Given the description of an element on the screen output the (x, y) to click on. 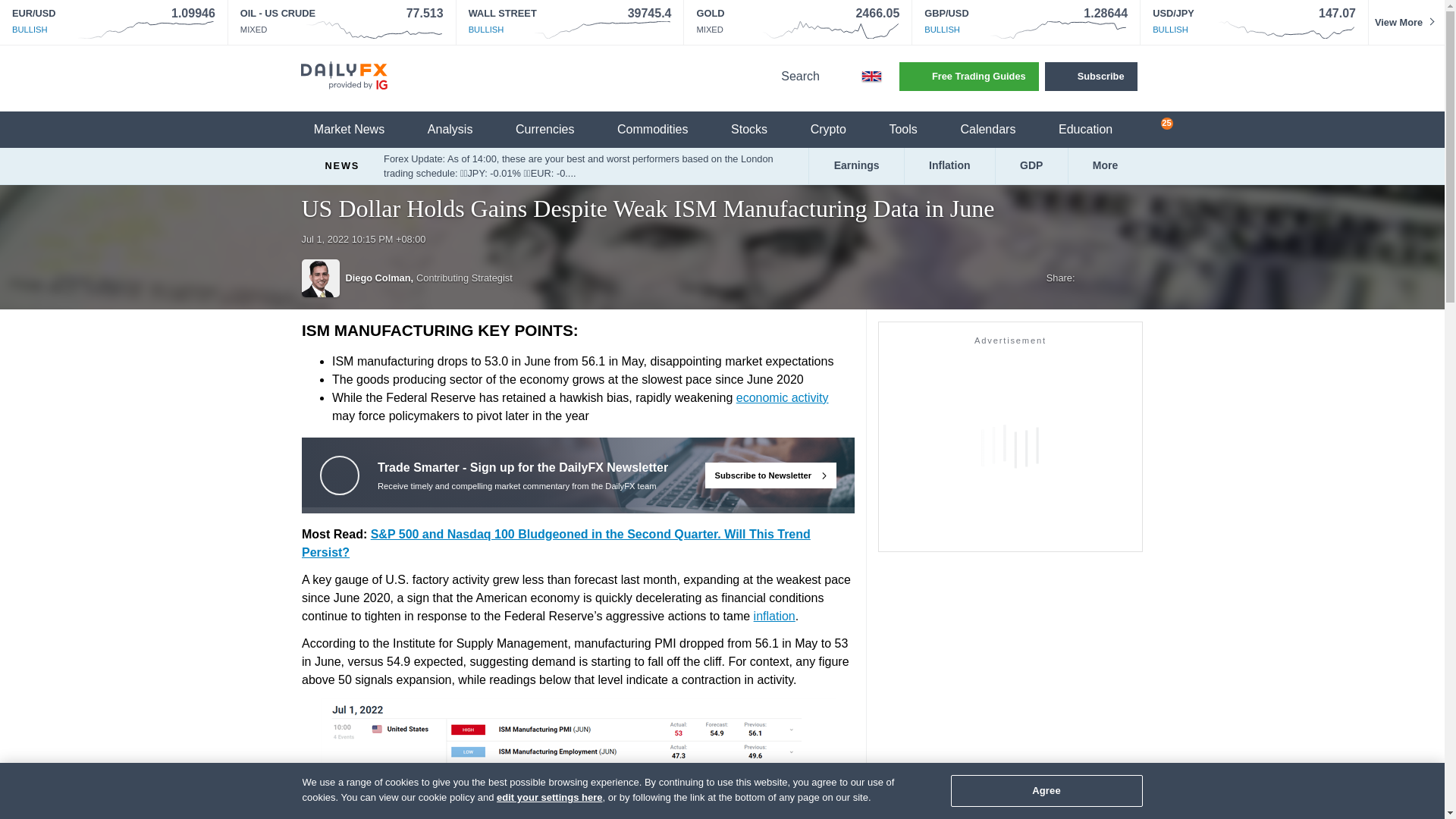
Analysis (458, 129)
inflation (773, 615)
economic activity (781, 397)
Currencies (554, 129)
Subscribe (1091, 76)
Market News (357, 129)
Free Trading Guides (969, 76)
